Given the description of an element on the screen output the (x, y) to click on. 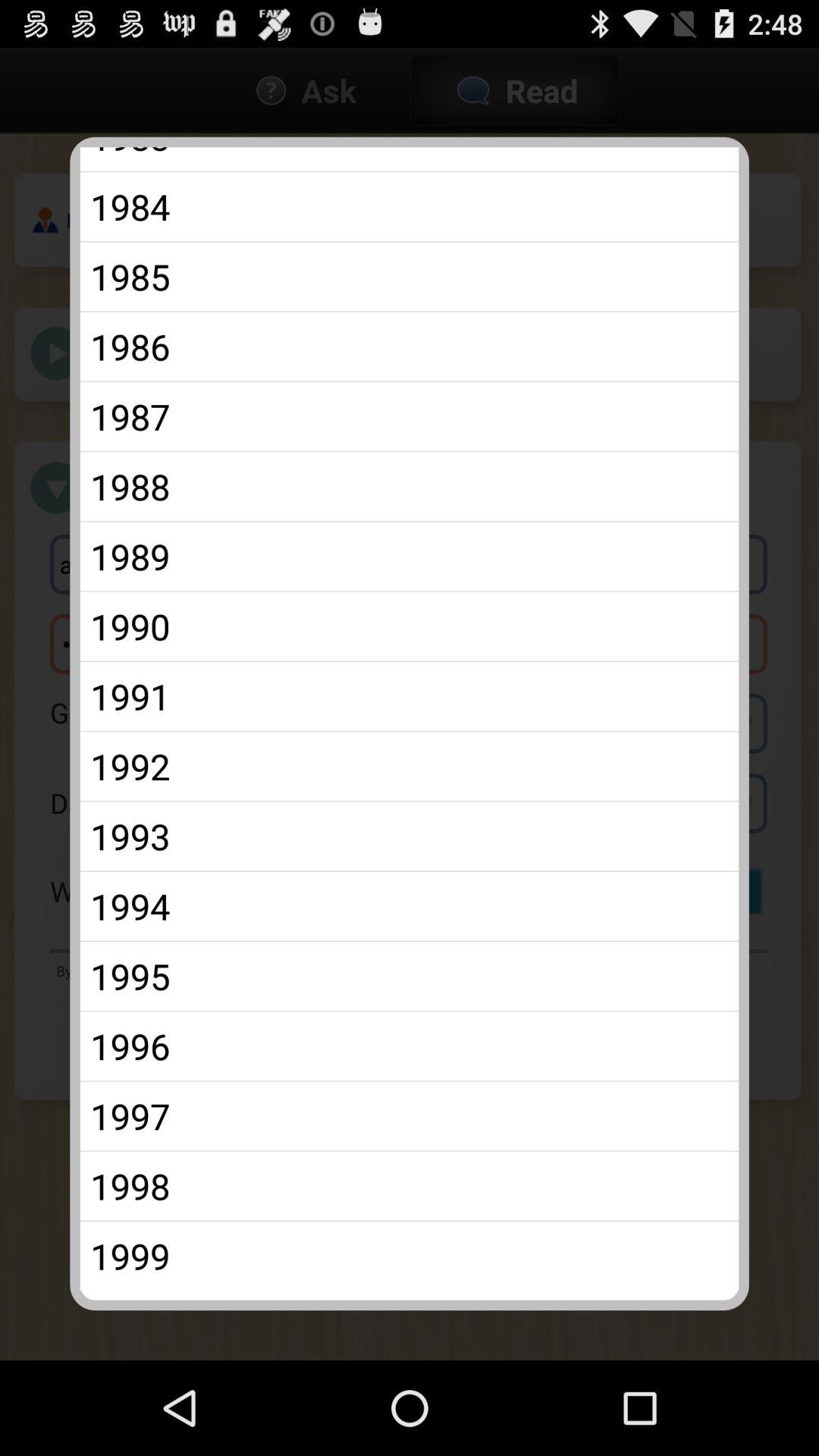
launch app below the 1991 icon (409, 765)
